Given the description of an element on the screen output the (x, y) to click on. 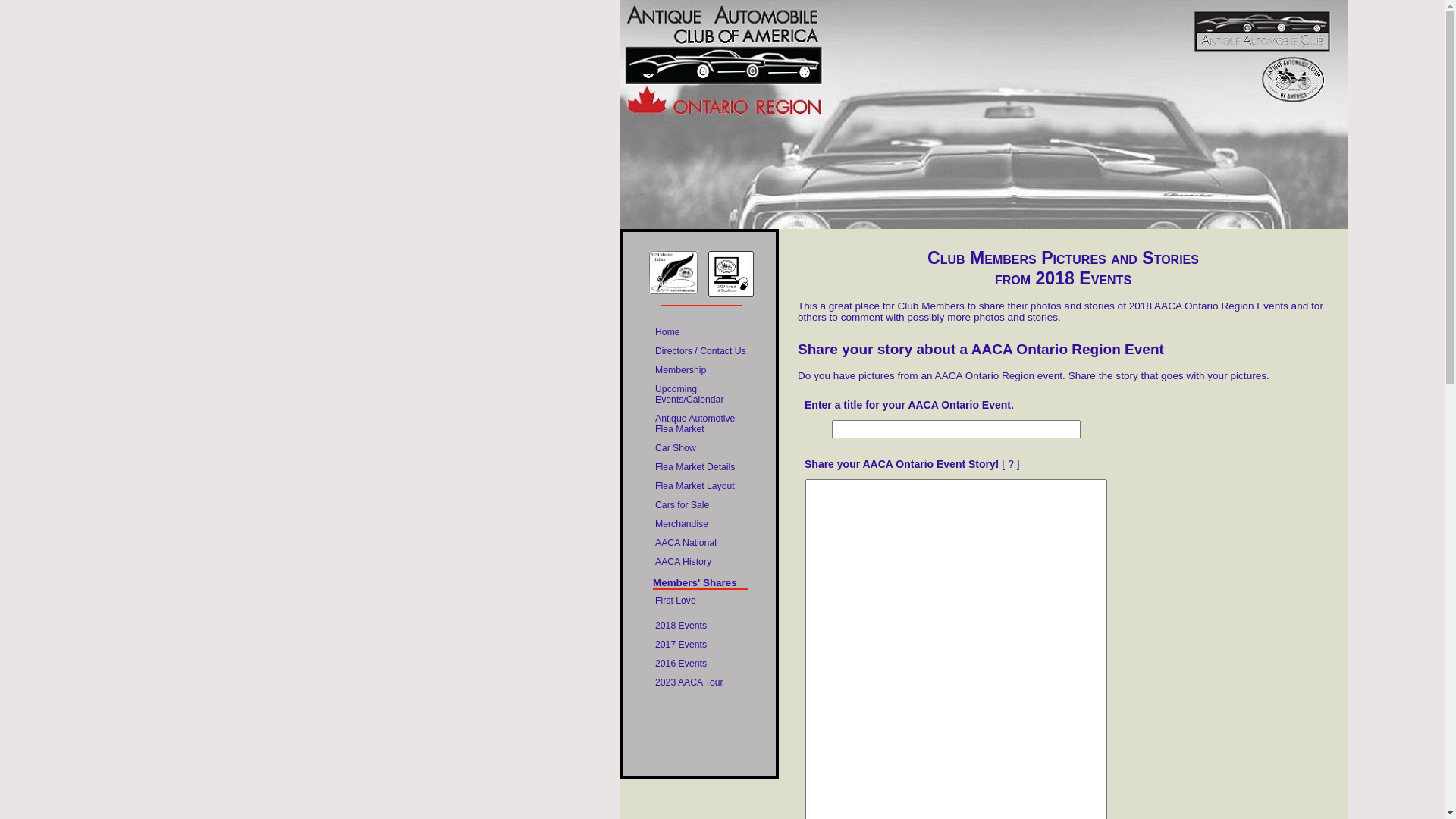
Membership Element type: text (700, 369)
First Love Element type: text (700, 600)
Antique Automotive Flea Market Element type: text (700, 423)
Merchandise Element type: text (700, 523)
AACA National Element type: text (700, 542)
Flea Market Details Element type: text (700, 466)
2023 AACA Tour Element type: text (700, 682)
2017 Events Element type: text (700, 644)
Home Element type: text (700, 331)
Upcoming Events/Calendar Element type: text (700, 394)
AACA History Element type: text (700, 561)
2018 Events Element type: text (700, 625)
? Element type: text (1010, 464)
Flea Market Layout Element type: text (700, 485)
Car Show Element type: text (700, 447)
Directors / Contact Us Element type: text (700, 350)
Cars for Sale Element type: text (700, 504)
2016 Events Element type: text (700, 663)
